Given the description of an element on the screen output the (x, y) to click on. 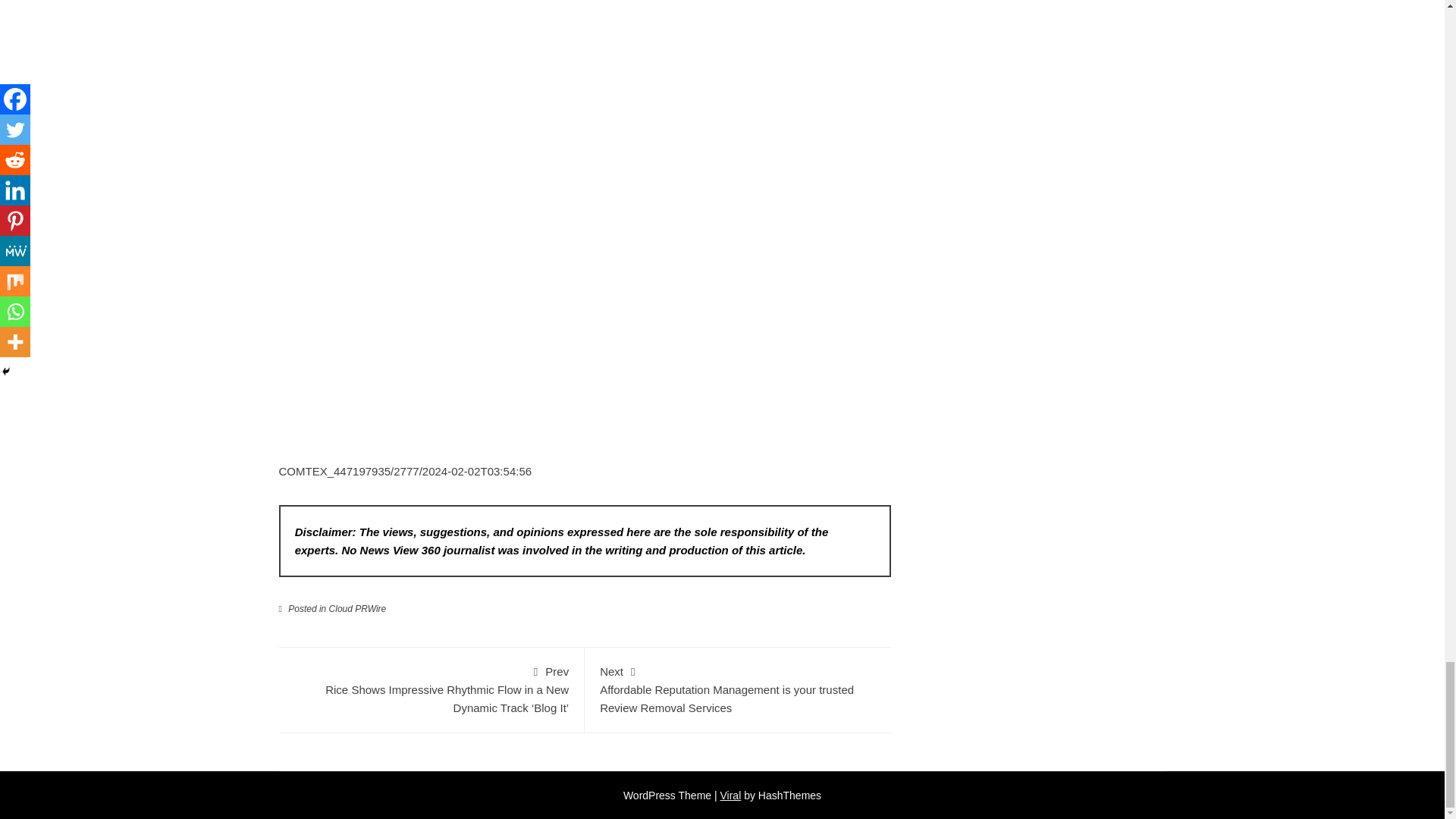
Cloud PRWire (358, 608)
